Given the description of an element on the screen output the (x, y) to click on. 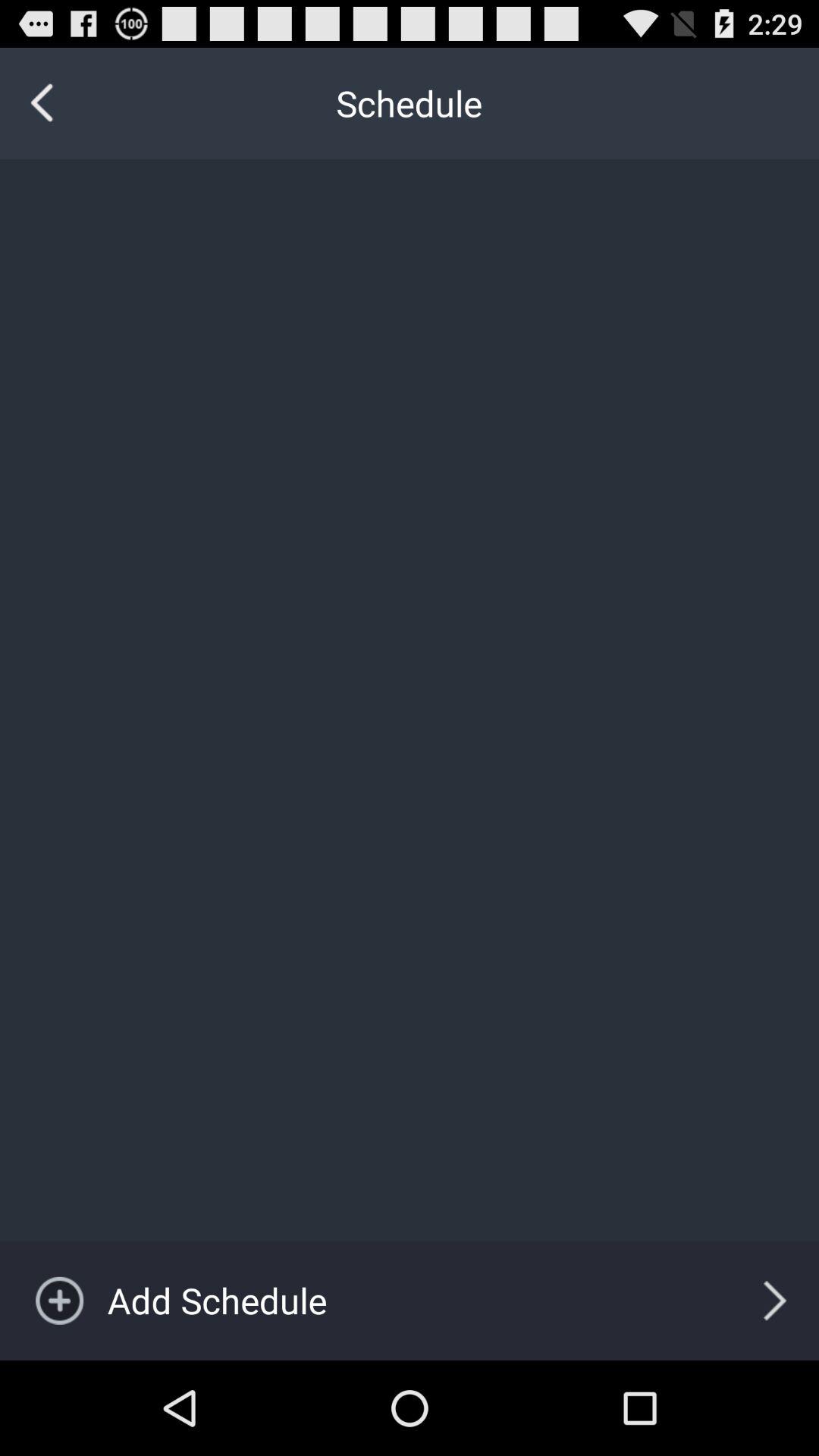
launch item next to schedule item (42, 103)
